Given the description of an element on the screen output the (x, y) to click on. 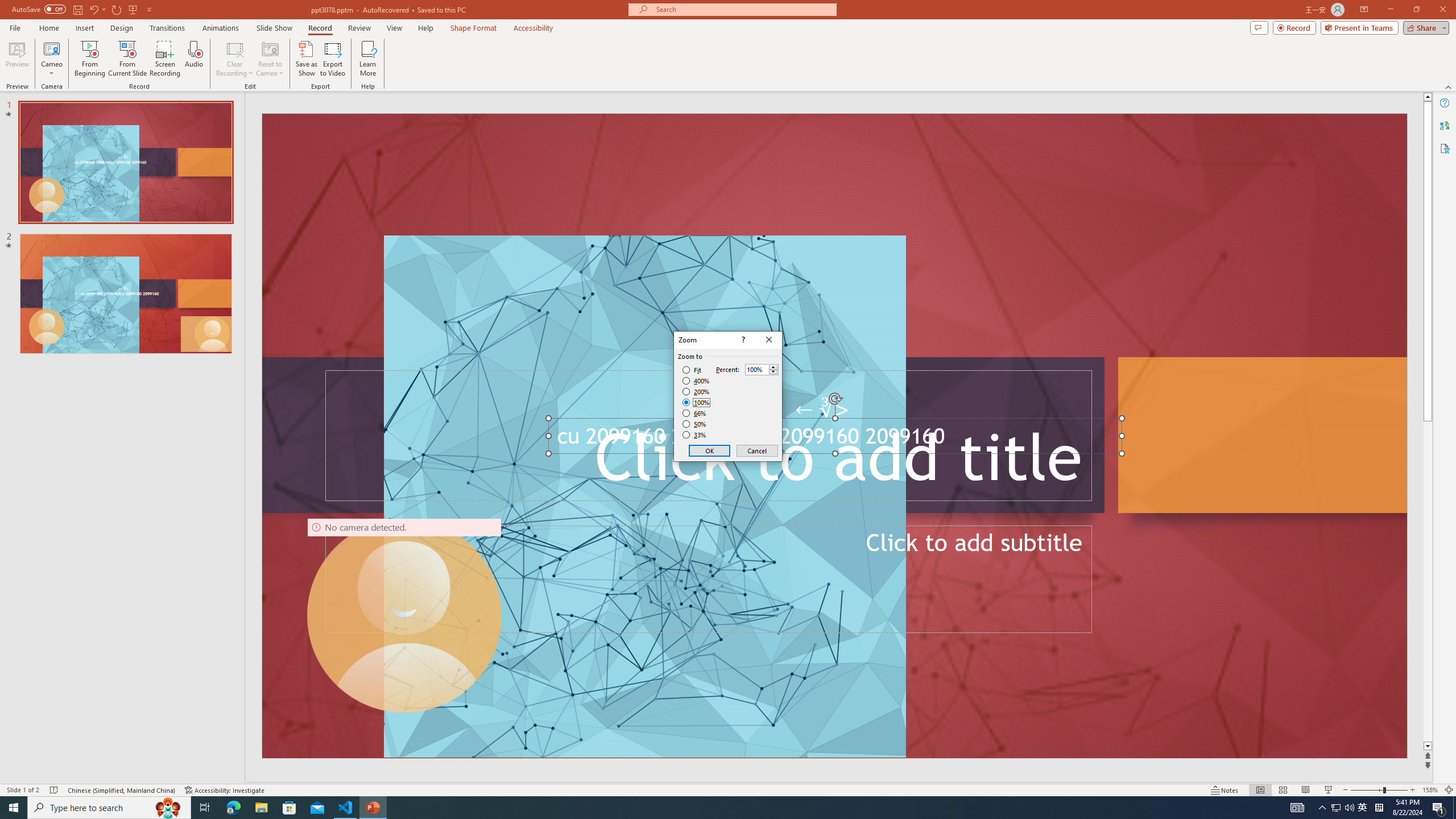
400% (696, 380)
